Given the description of an element on the screen output the (x, y) to click on. 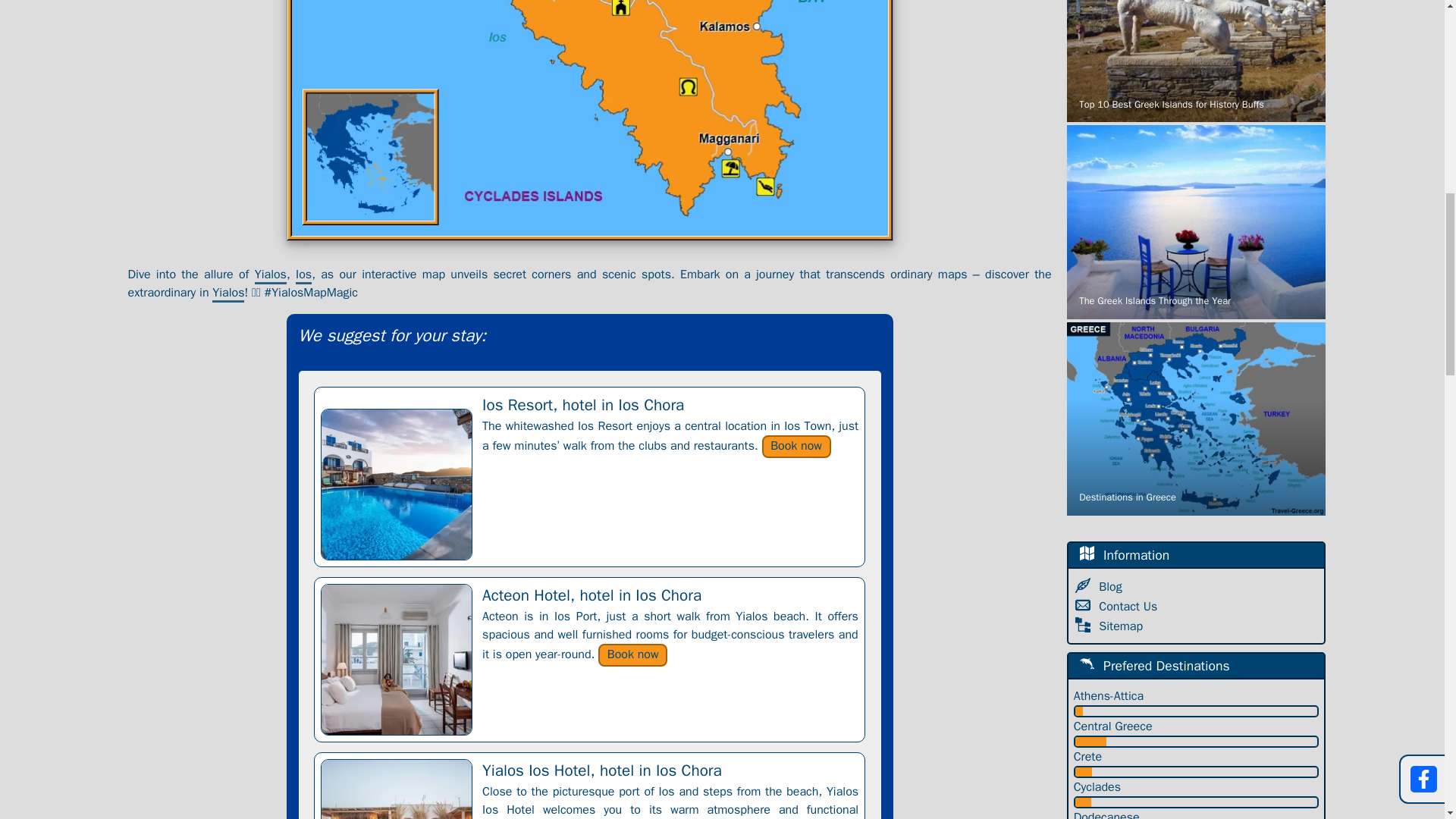
Yialos (228, 293)
Top 10 Best Greek Islands for History Buffs (1195, 61)
Destinations in Greece (1195, 418)
Destinations in Greece (1195, 418)
Yialos (270, 275)
The Greek Islands Through the Year (1195, 222)
The Greek Islands Through the Year (1195, 222)
Blog (1112, 586)
Ios (303, 275)
Top 10 Best Greek Islands for History Buffs (1195, 61)
